Given the description of an element on the screen output the (x, y) to click on. 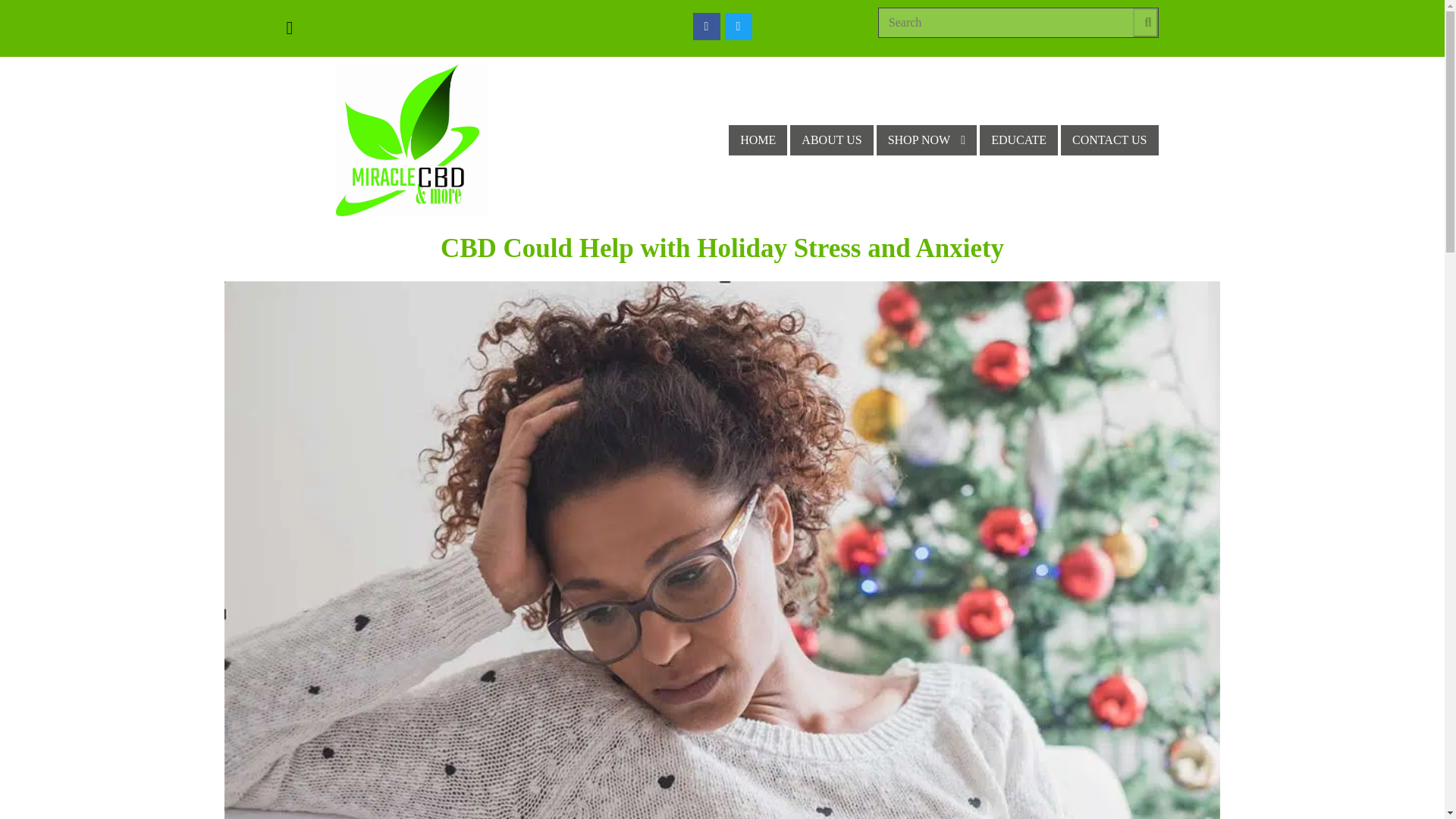
HOME (758, 140)
EDUCATE (1018, 140)
CONTACT US (1109, 140)
LOGO (411, 140)
SHOP NOW (926, 140)
ABOUT US (831, 140)
